Given the description of an element on the screen output the (x, y) to click on. 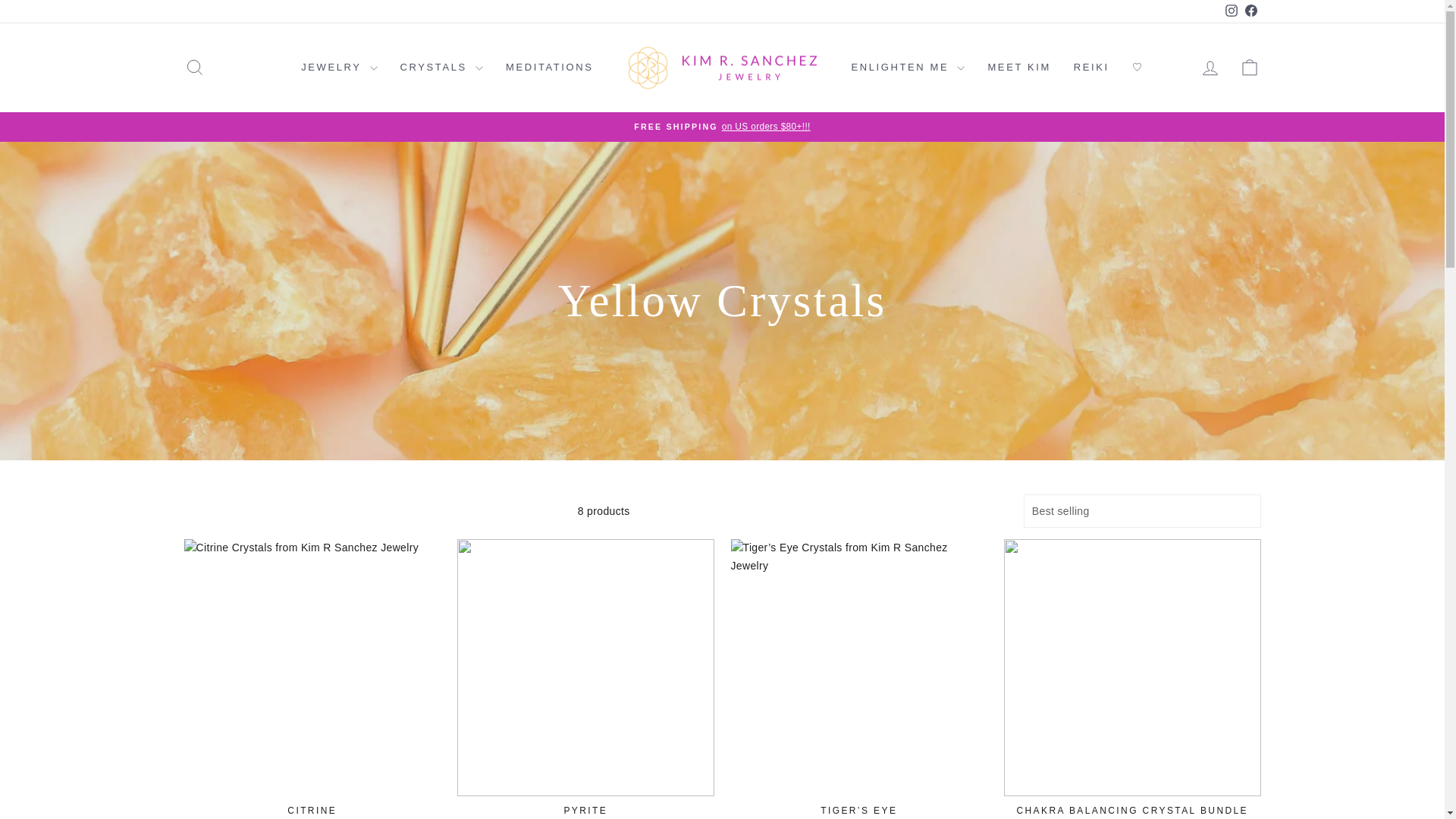
ACCOUNT (1210, 67)
instagram (1231, 10)
ICON-BAG-MINIMAL (1249, 66)
ICON-SEARCH (194, 66)
